Given the description of an element on the screen output the (x, y) to click on. 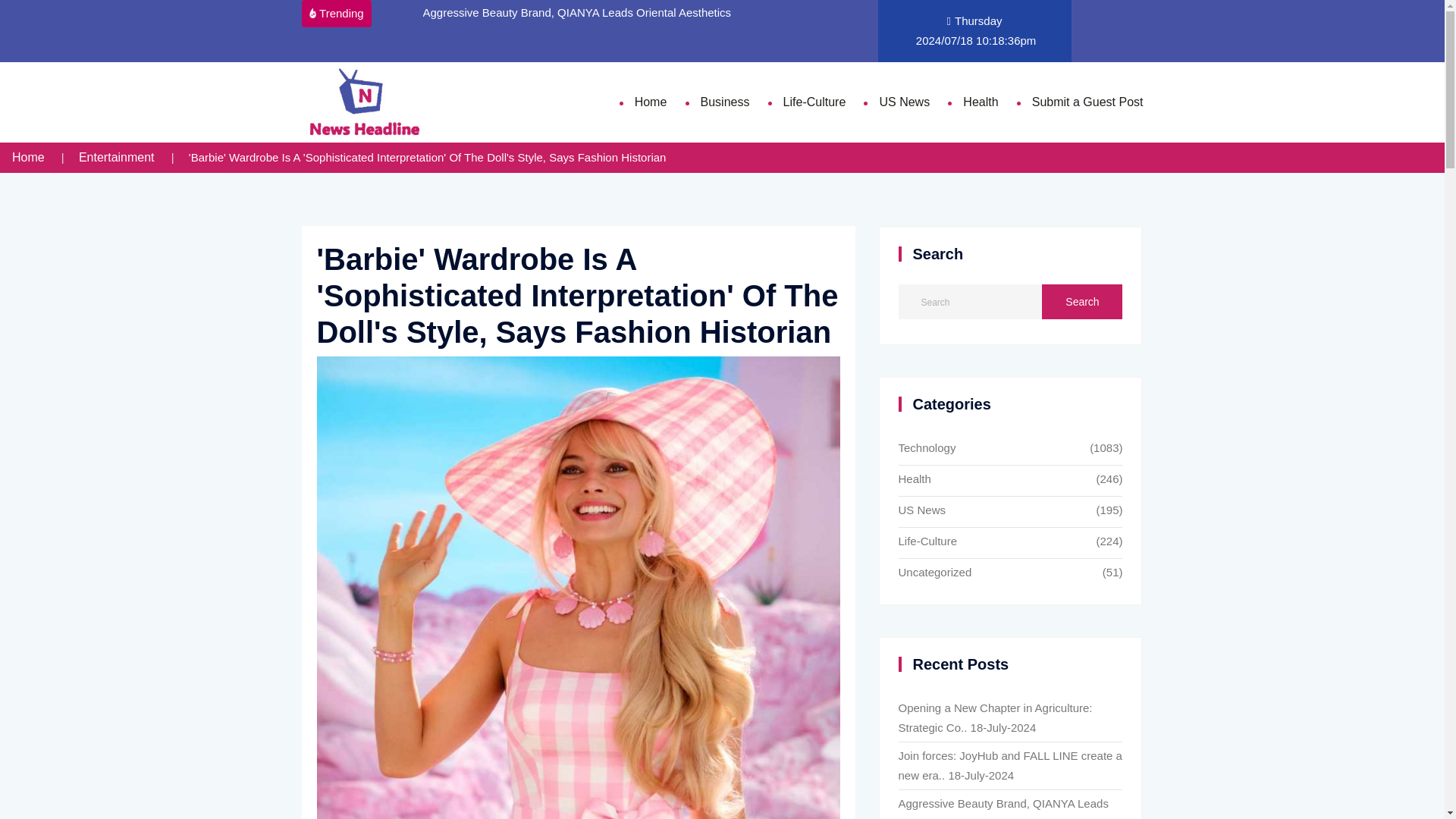
Search (1082, 301)
US News (993, 511)
Aggressive Beauty Brand, QIANYA Leads Oriental Aes.. (1003, 807)
Health (993, 480)
Submit a Guest Post (1087, 102)
Search (1082, 301)
Life-Culture (993, 542)
Home (28, 156)
Aggressive Beauty Brand, QIANYA Leads Oriental Aesthetics (577, 11)
Entertainment (116, 156)
Trending (336, 13)
Technology (993, 449)
Search (1082, 301)
Opening a New Chapter in Agriculture: Strategic Co.. (995, 717)
Join forces: JoyHub and FALL LINE create a new era.. (1009, 765)
